Given the description of an element on the screen output the (x, y) to click on. 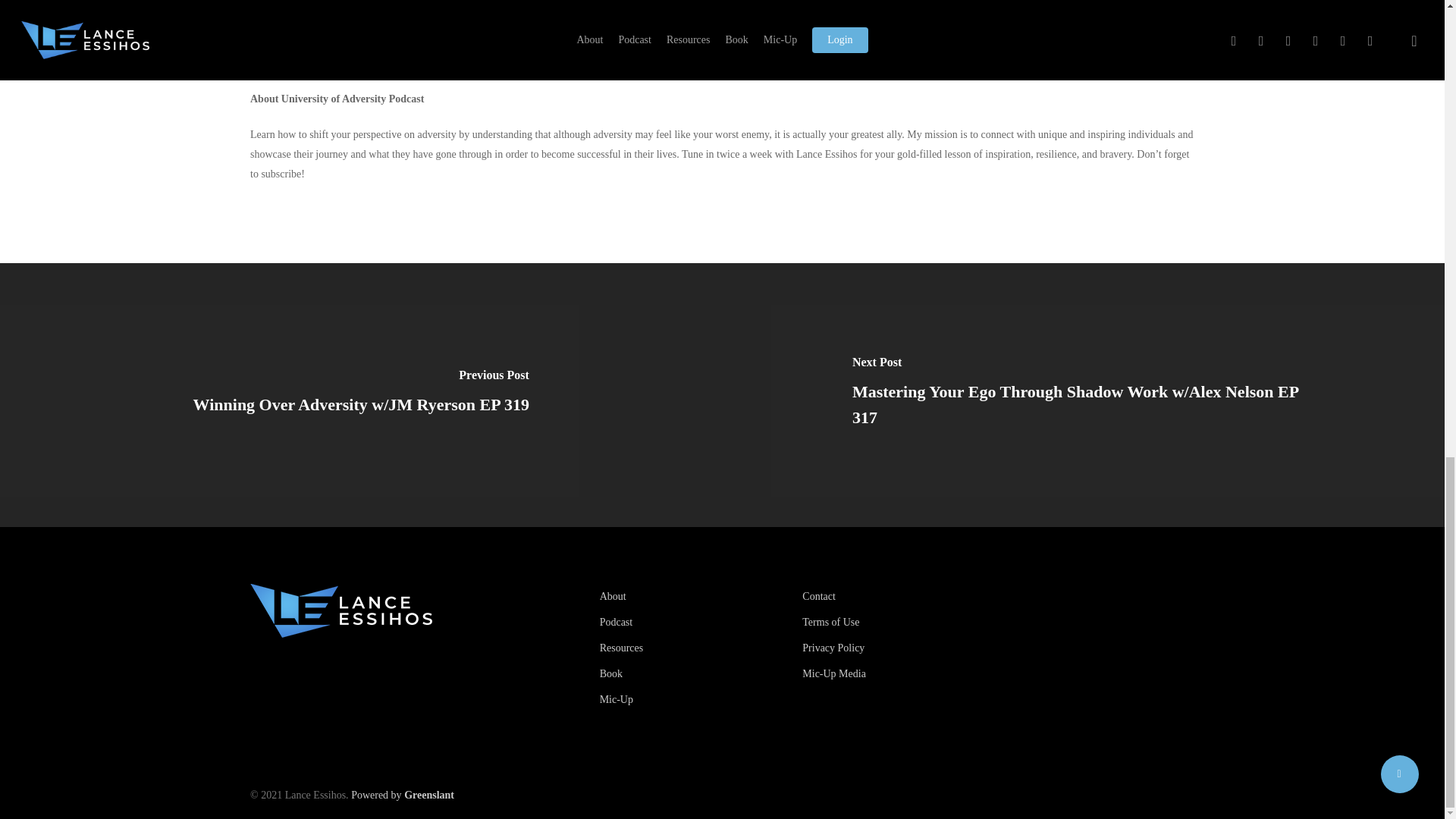
here (446, 56)
